Given the description of an element on the screen output the (x, y) to click on. 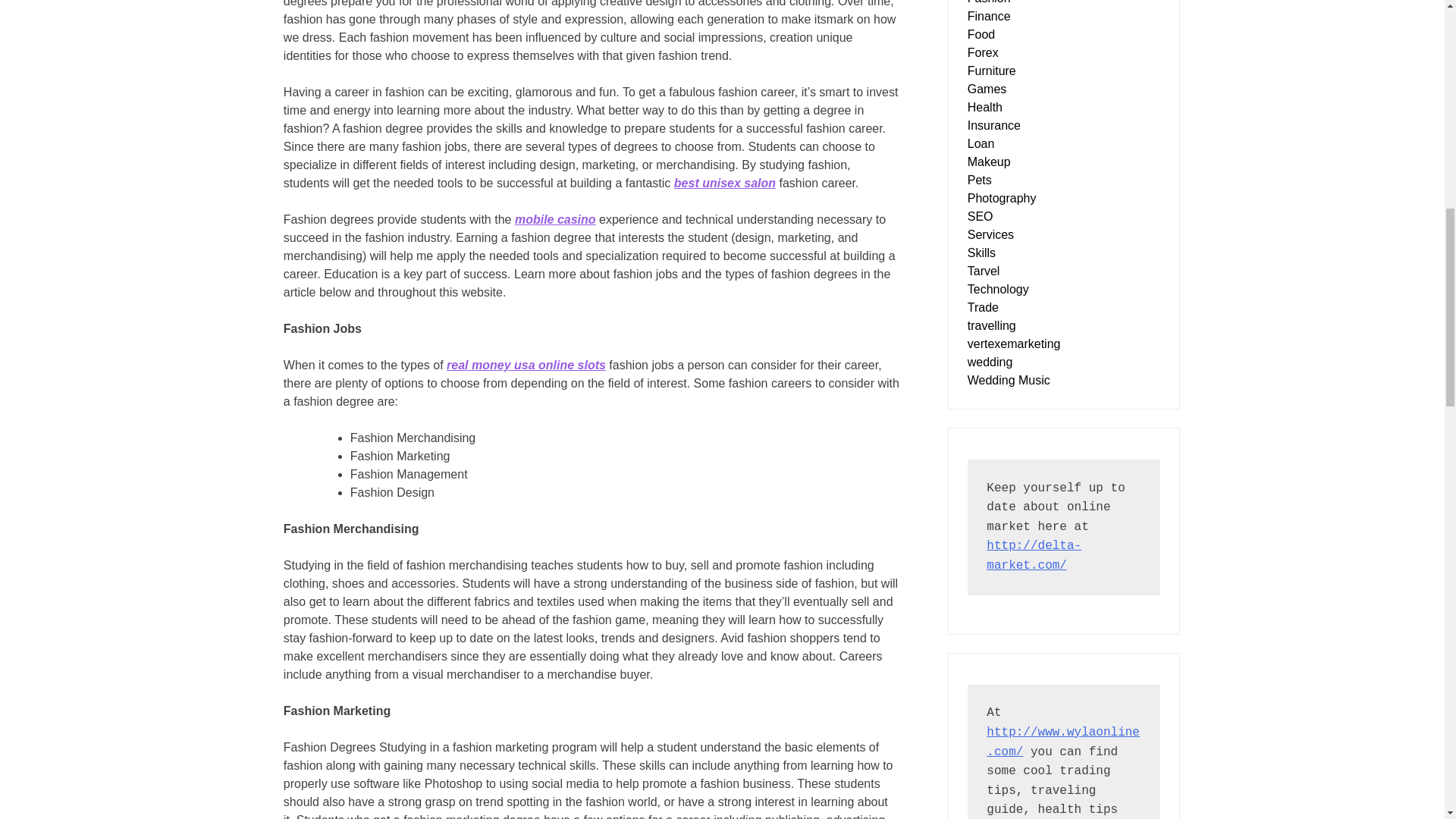
real money usa online slots (525, 364)
mobile casino (555, 219)
best unisex salon (725, 182)
